Given the description of an element on the screen output the (x, y) to click on. 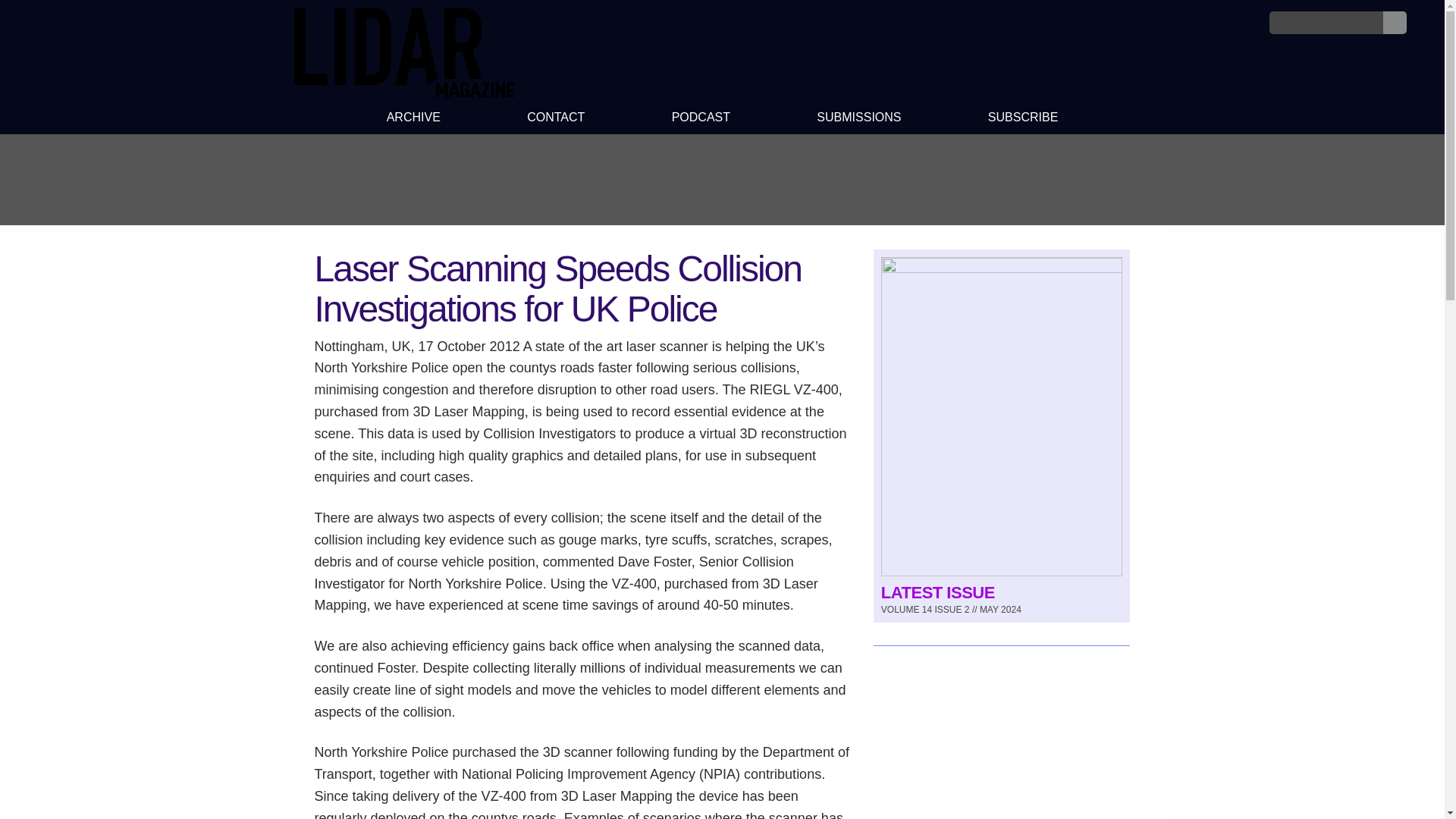
CONTACT (555, 119)
PODCAST (700, 119)
Submit (1394, 22)
Submit (1394, 22)
Submit (1394, 22)
LIDAR Magazine (403, 52)
SUBSCRIBE (1023, 119)
LIDAR Magazine (403, 92)
ARCHIVE (412, 119)
SUBMISSIONS (858, 119)
